Given the description of an element on the screen output the (x, y) to click on. 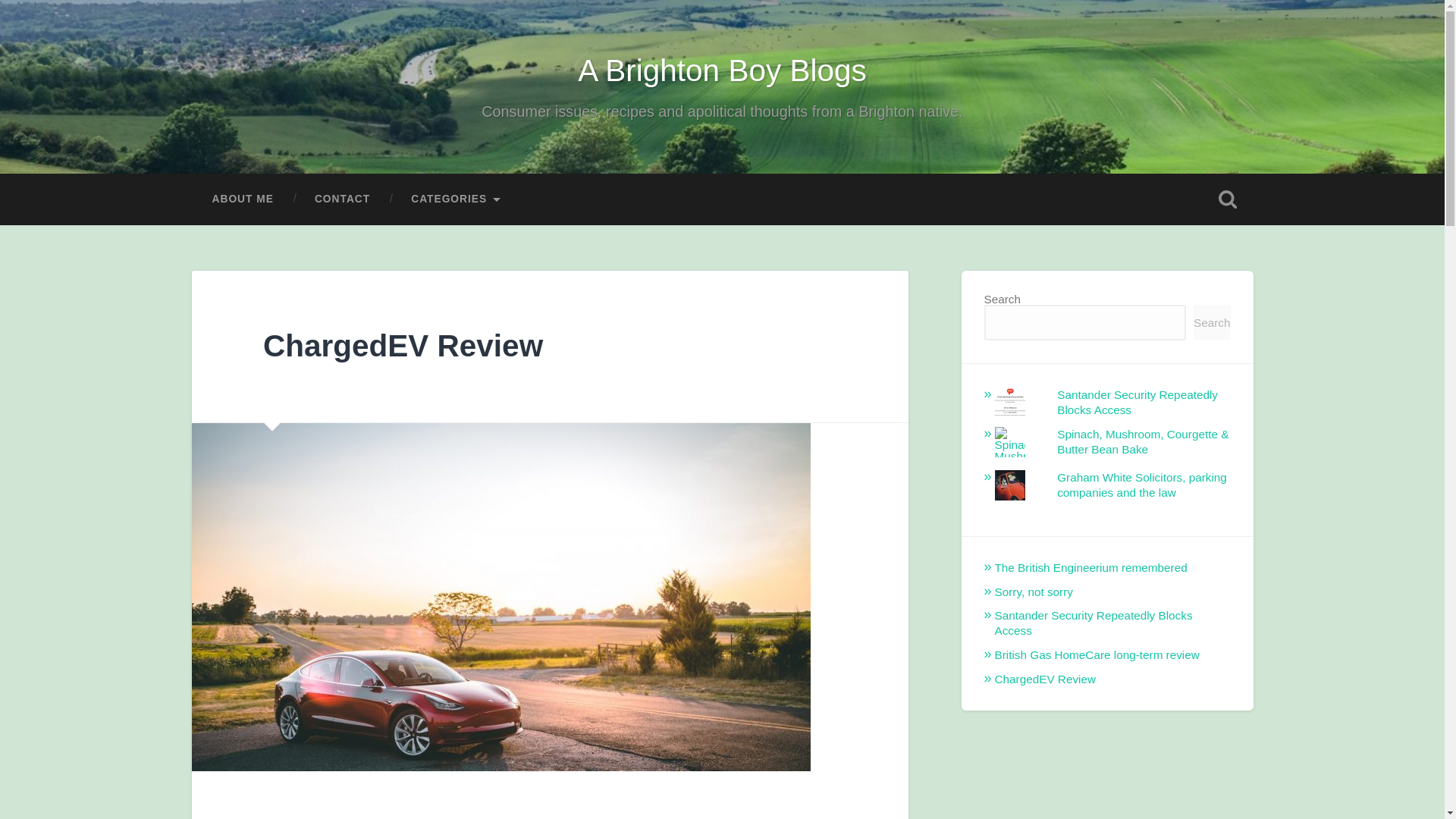
ABOUT ME (242, 199)
CATEGORIES (456, 199)
ChargedEV Review (403, 345)
A Brighton Boy Blogs (722, 70)
CONTACT (342, 199)
